Given the description of an element on the screen output the (x, y) to click on. 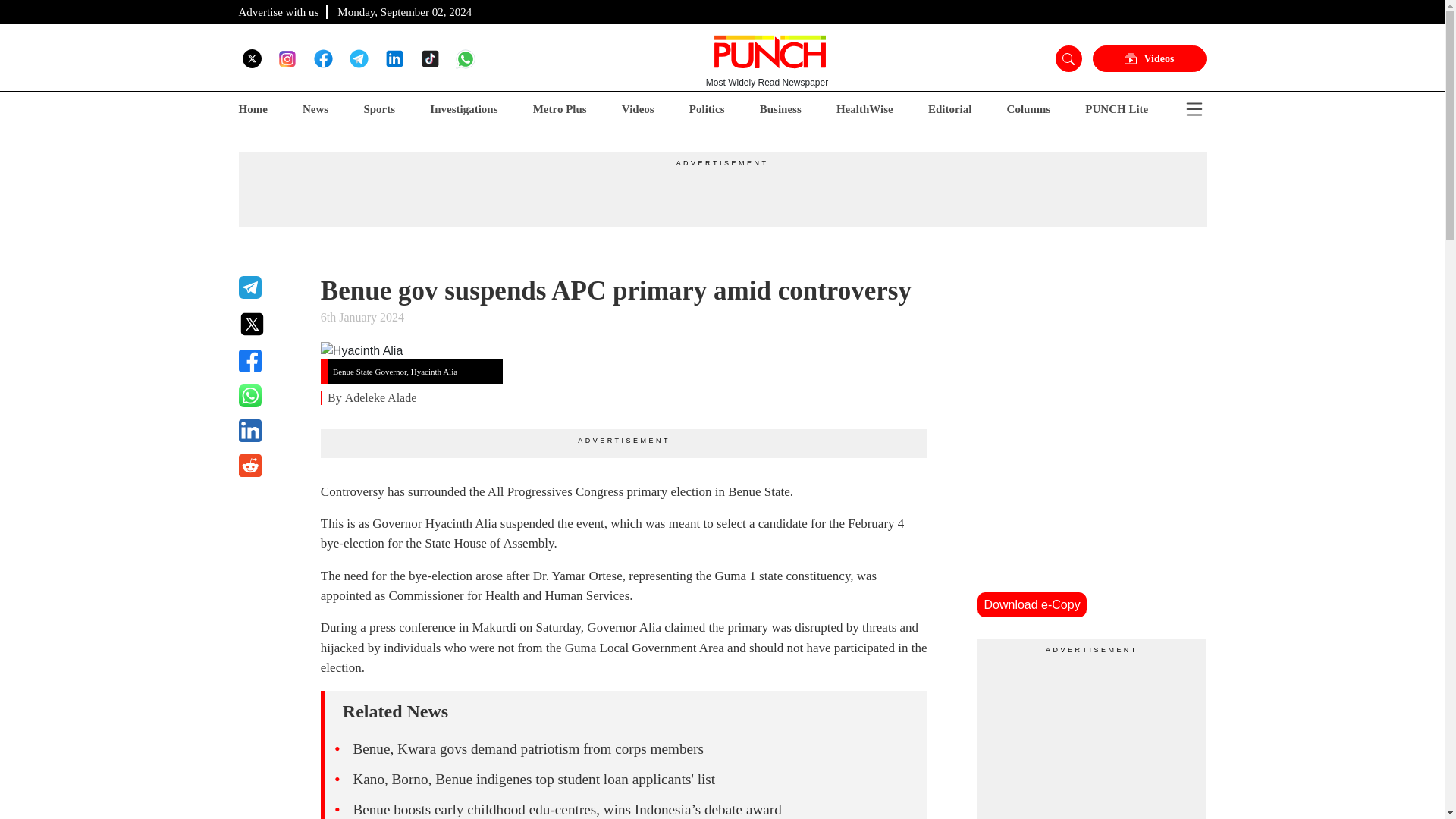
Share on Telegram (269, 287)
Share on Reddit (269, 465)
HealthWise (864, 109)
Follow us on Linkedin (395, 58)
Columns (1029, 109)
Politics (706, 109)
Editorial (950, 109)
Follow Our Channel on Telegram (358, 58)
Follow Us on X (252, 58)
Follow Us on Instagram (287, 58)
